Given the description of an element on the screen output the (x, y) to click on. 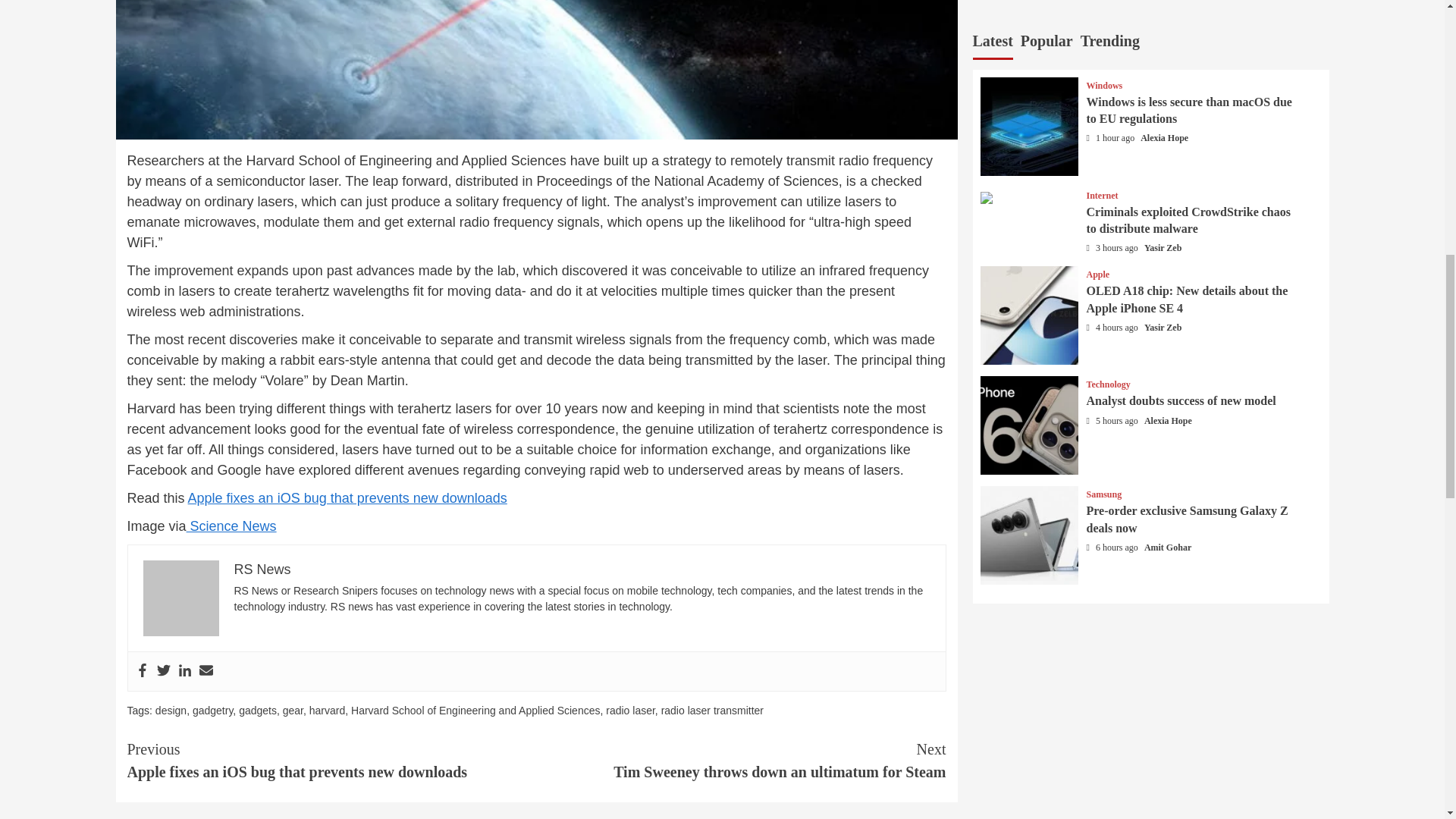
Apple fixes an iOS bug that prevents new downloads (346, 498)
Science News (231, 525)
RS News (260, 569)
gadgetry (212, 710)
design (170, 710)
